Given the description of an element on the screen output the (x, y) to click on. 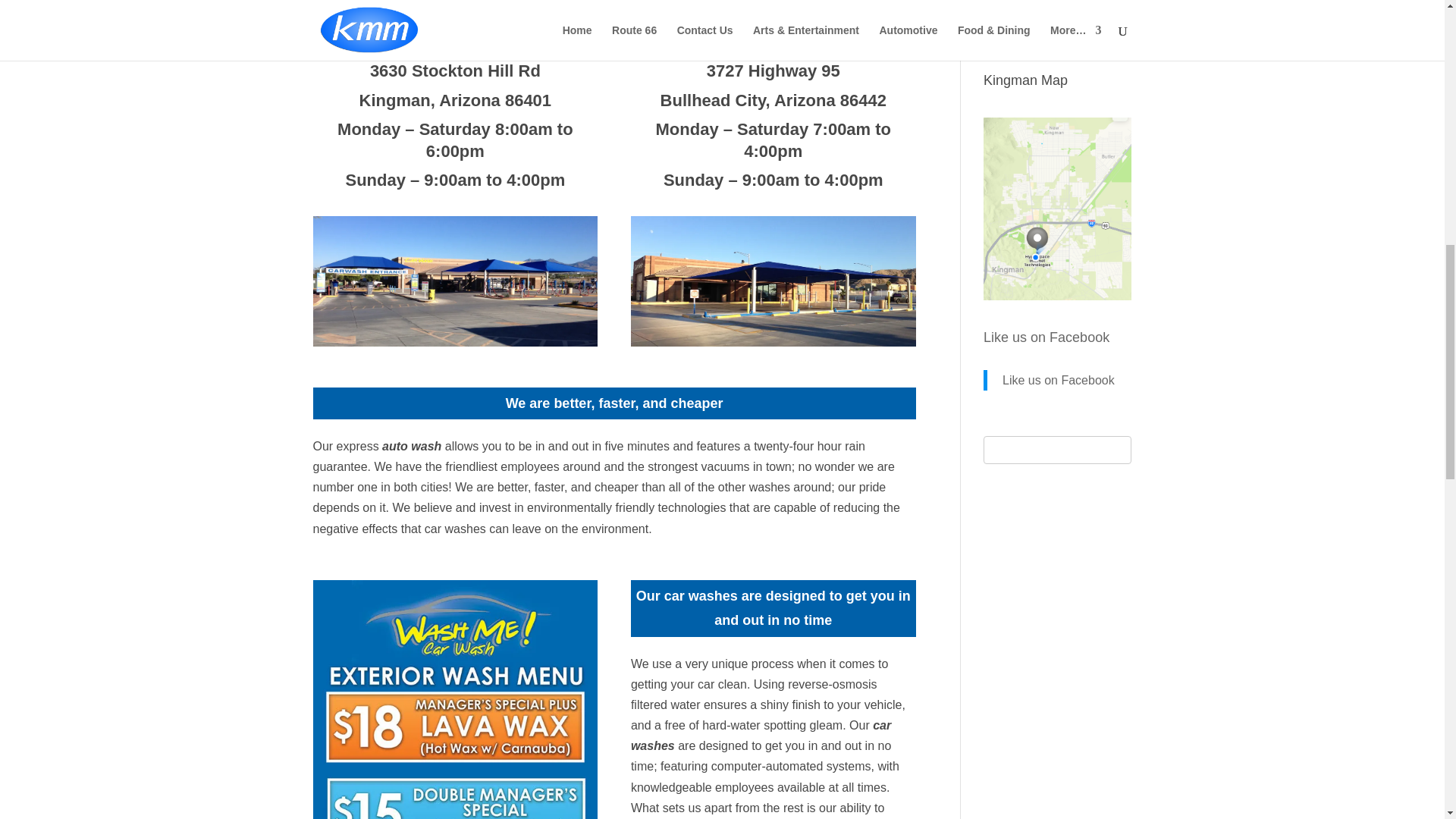
Car Wash, Kingman AZ, Bullhead City AZ (772, 281)
Car Wash, Kingman AZ, Bullhead City AZ (454, 281)
Car Wash, Kingman AZ, Bullhead City AZ (454, 699)
